Given the description of an element on the screen output the (x, y) to click on. 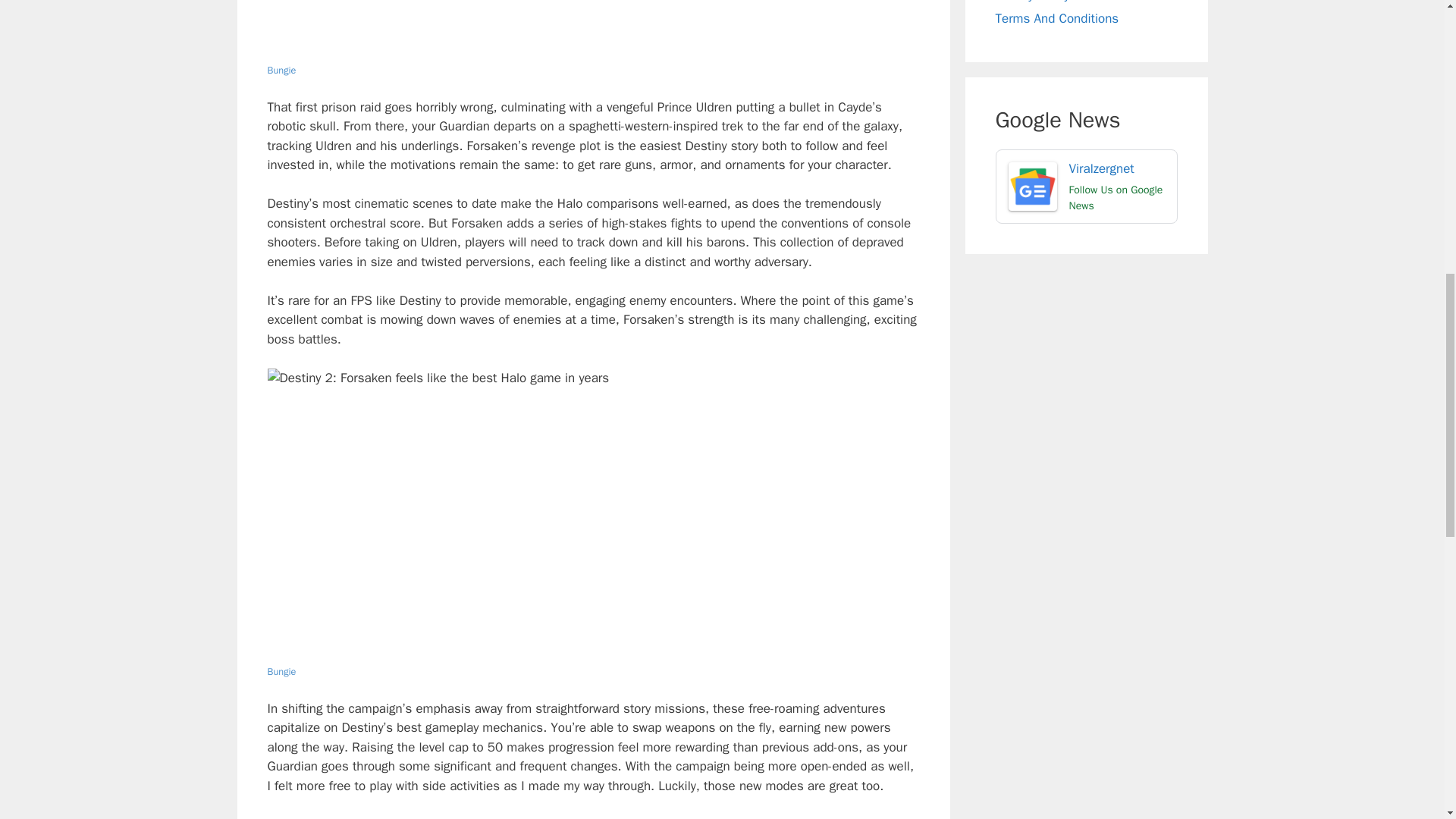
Bungie (280, 671)
Scroll back to top (1406, 720)
Viralzergnet (1085, 185)
Bungie (280, 70)
